Given the description of an element on the screen output the (x, y) to click on. 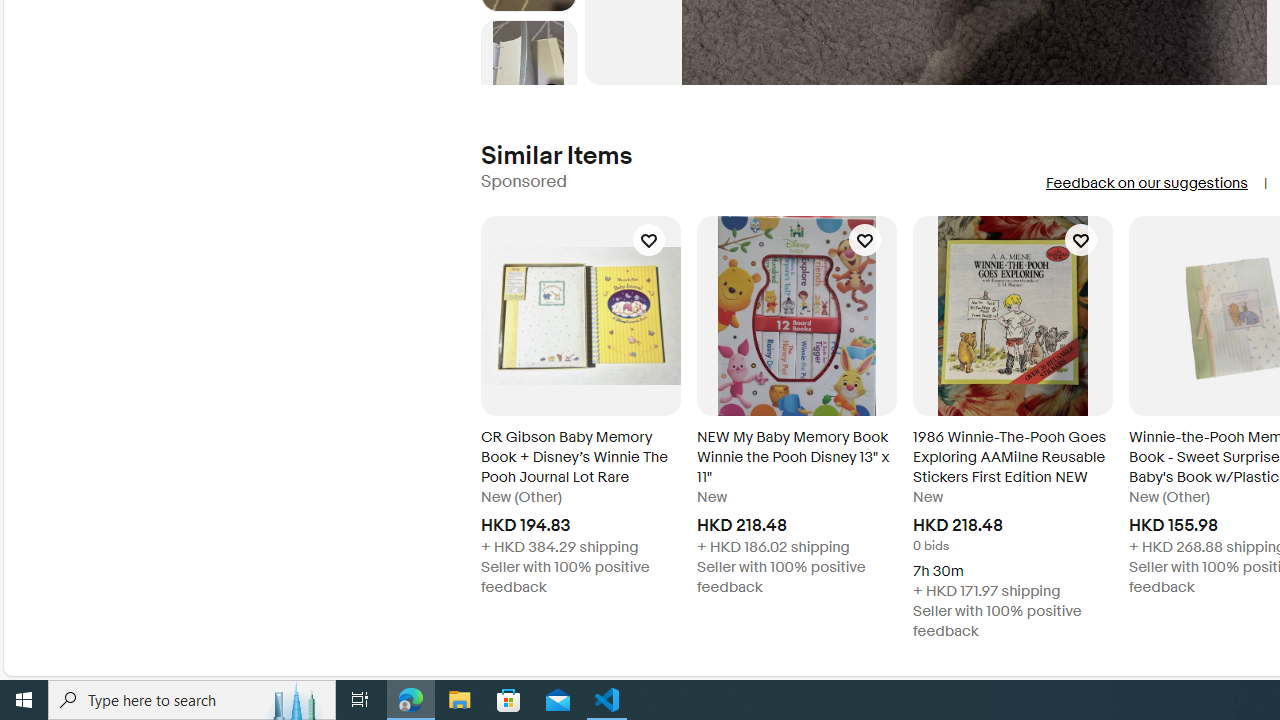
Next image - Item images thumbnails (528, 80)
Picture 6 of 22 (528, 67)
Picture 6 of 22 (528, 67)
Feedback on our suggestions (1146, 183)
